Given the description of an element on the screen output the (x, y) to click on. 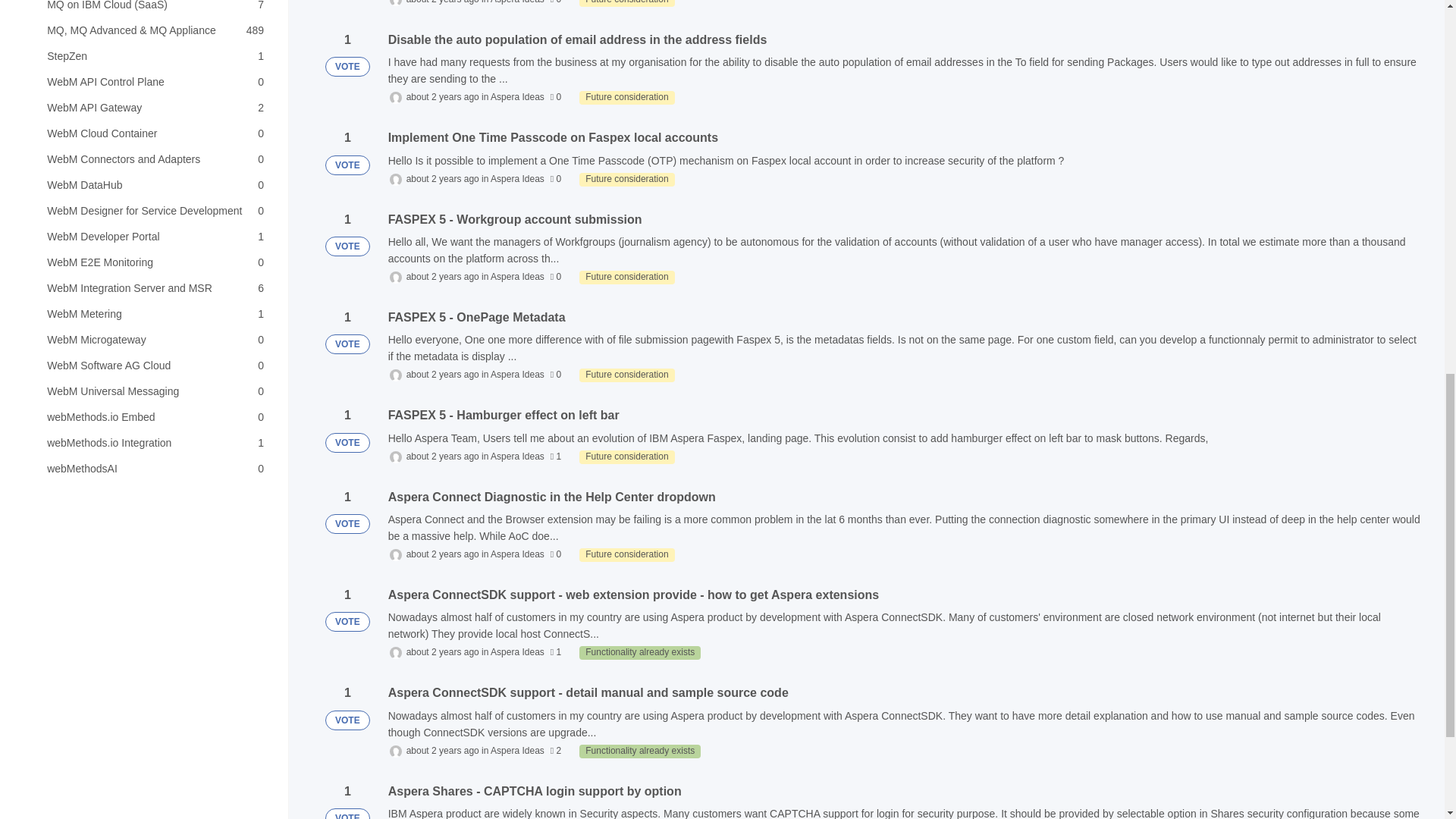
Future consideration (150, 184)
Future consideration (150, 262)
Future consideration (626, 179)
Future consideration (626, 3)
